Given the description of an element on the screen output the (x, y) to click on. 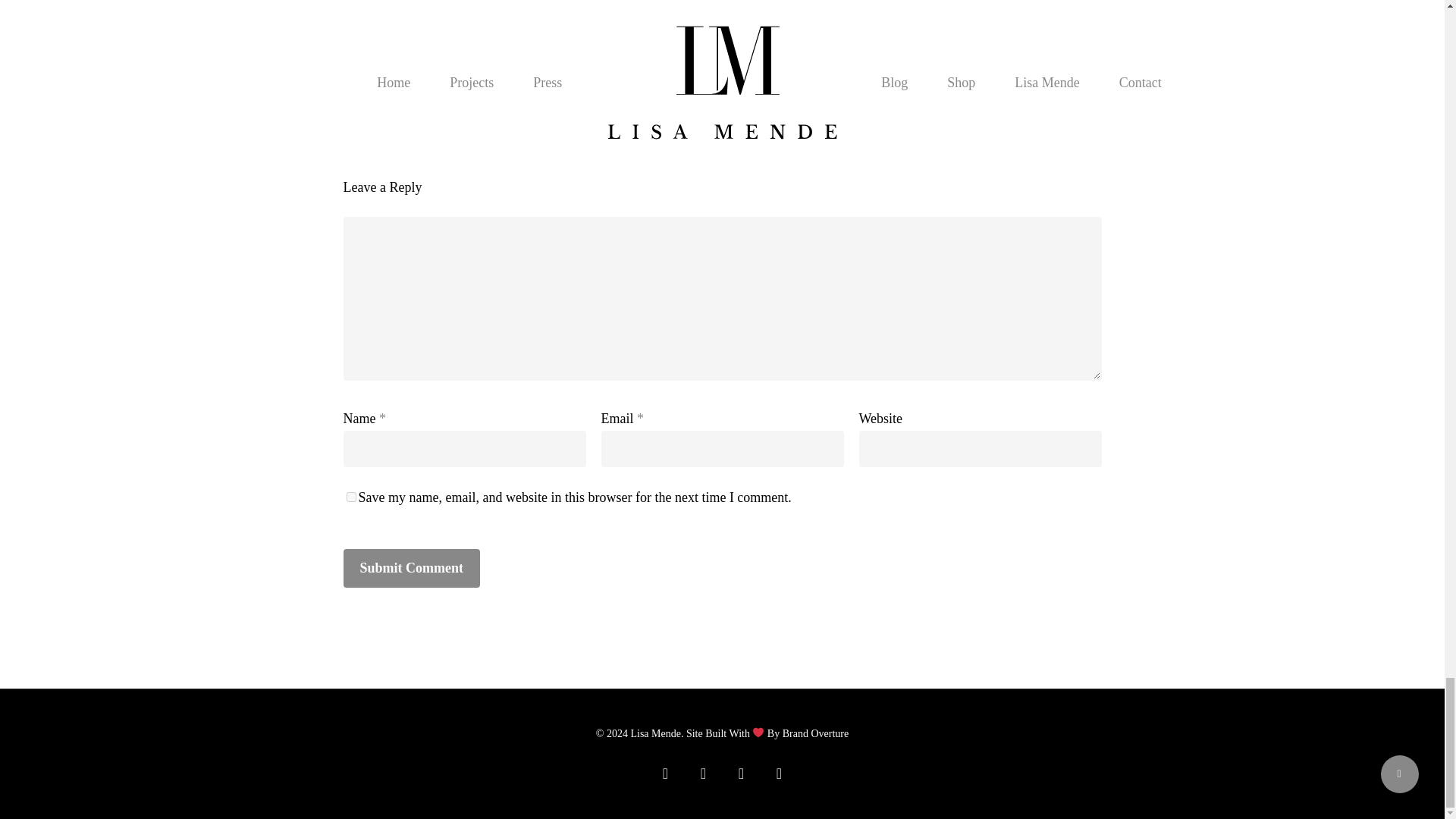
Submit Comment (411, 568)
yes (350, 497)
